Given the description of an element on the screen output the (x, y) to click on. 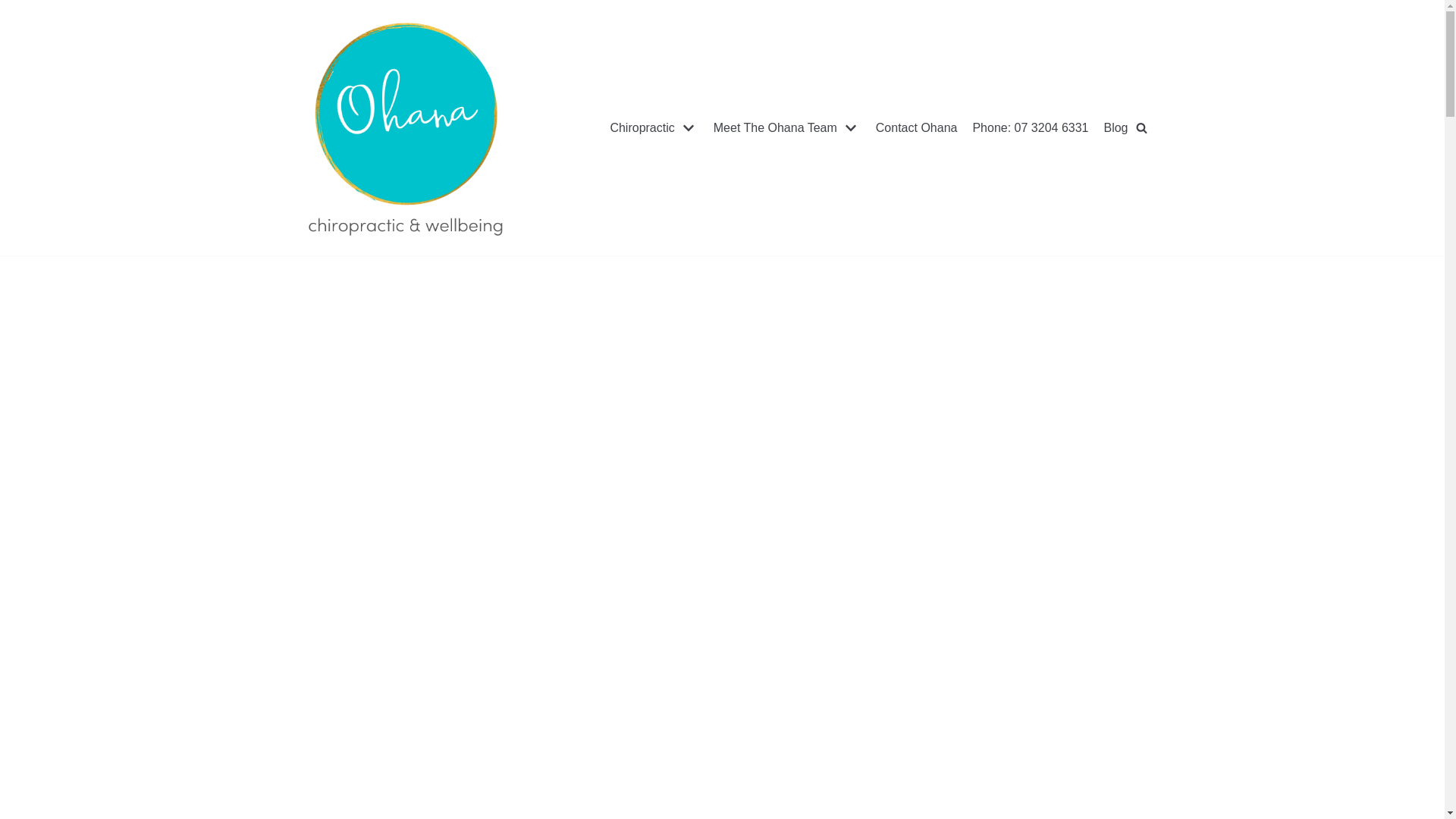
Meet The Ohana Team Element type: text (786, 128)
Blog Element type: text (1115, 128)
Phone: 07 3204 6331 Element type: text (1030, 128)
Skip to content Element type: text (15, 7)
Chiropractic Element type: text (653, 128)
Ohana Chiropractic & Wellbeing Element type: hover (403, 127)
Contact Ohana Element type: text (916, 128)
